Given the description of an element on the screen output the (x, y) to click on. 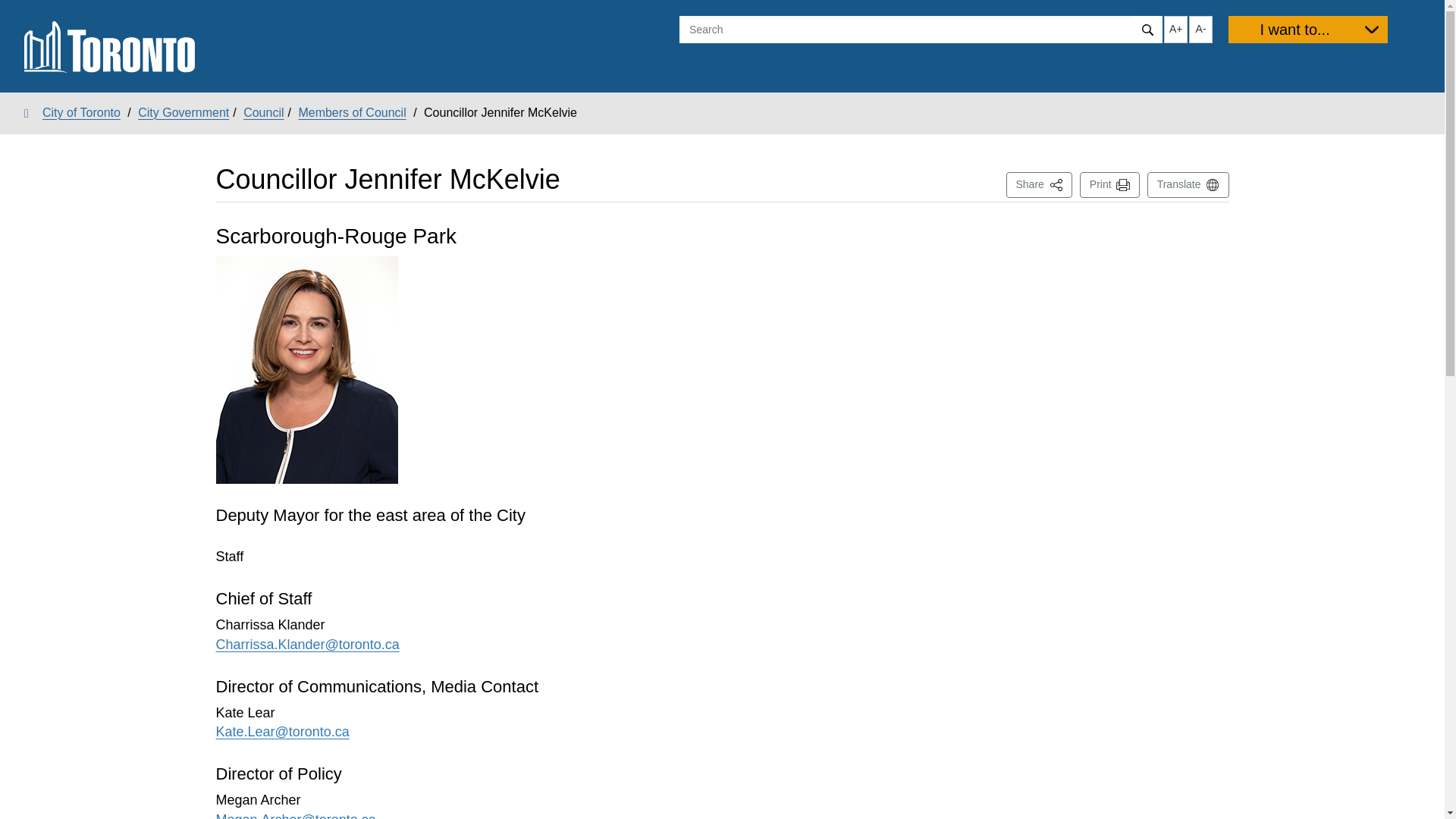
Print (1110, 184)
Council (263, 112)
I want to... (1200, 29)
Translate (1307, 29)
City of Toronto (1187, 184)
Members of Council (72, 112)
Decrease text size (1038, 184)
City Government (352, 112)
Increase text size (1200, 29)
Skip to content (183, 112)
